Given the description of an element on the screen output the (x, y) to click on. 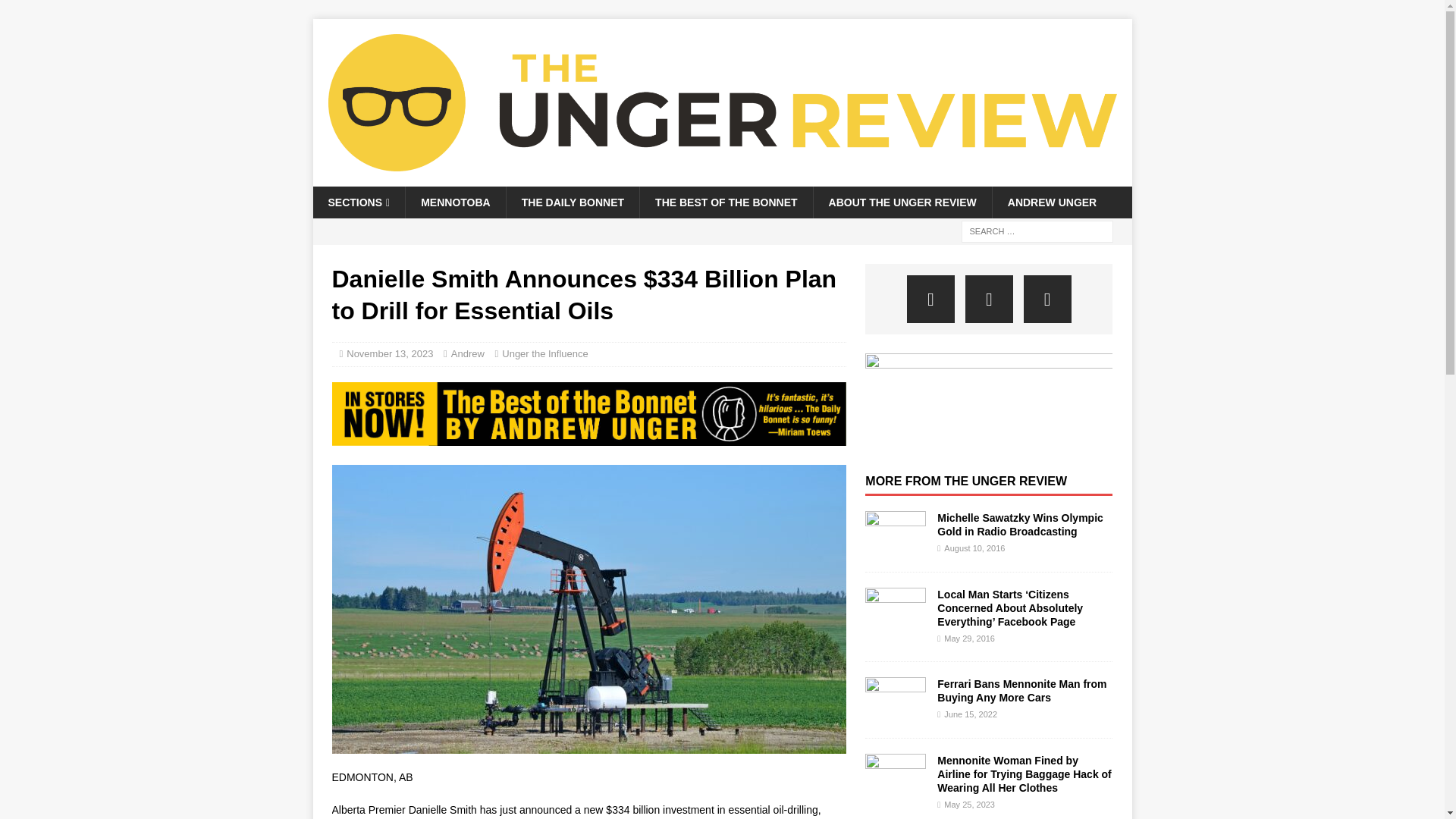
MENNOTOBA (454, 202)
ABOUT THE UNGER REVIEW (901, 202)
ANDREW UNGER (1051, 202)
November 13, 2023 (389, 353)
THE DAILY BONNET (572, 202)
Andrew (467, 353)
Search (56, 11)
Unger the Influence (545, 353)
SECTIONS (358, 202)
